Given the description of an element on the screen output the (x, y) to click on. 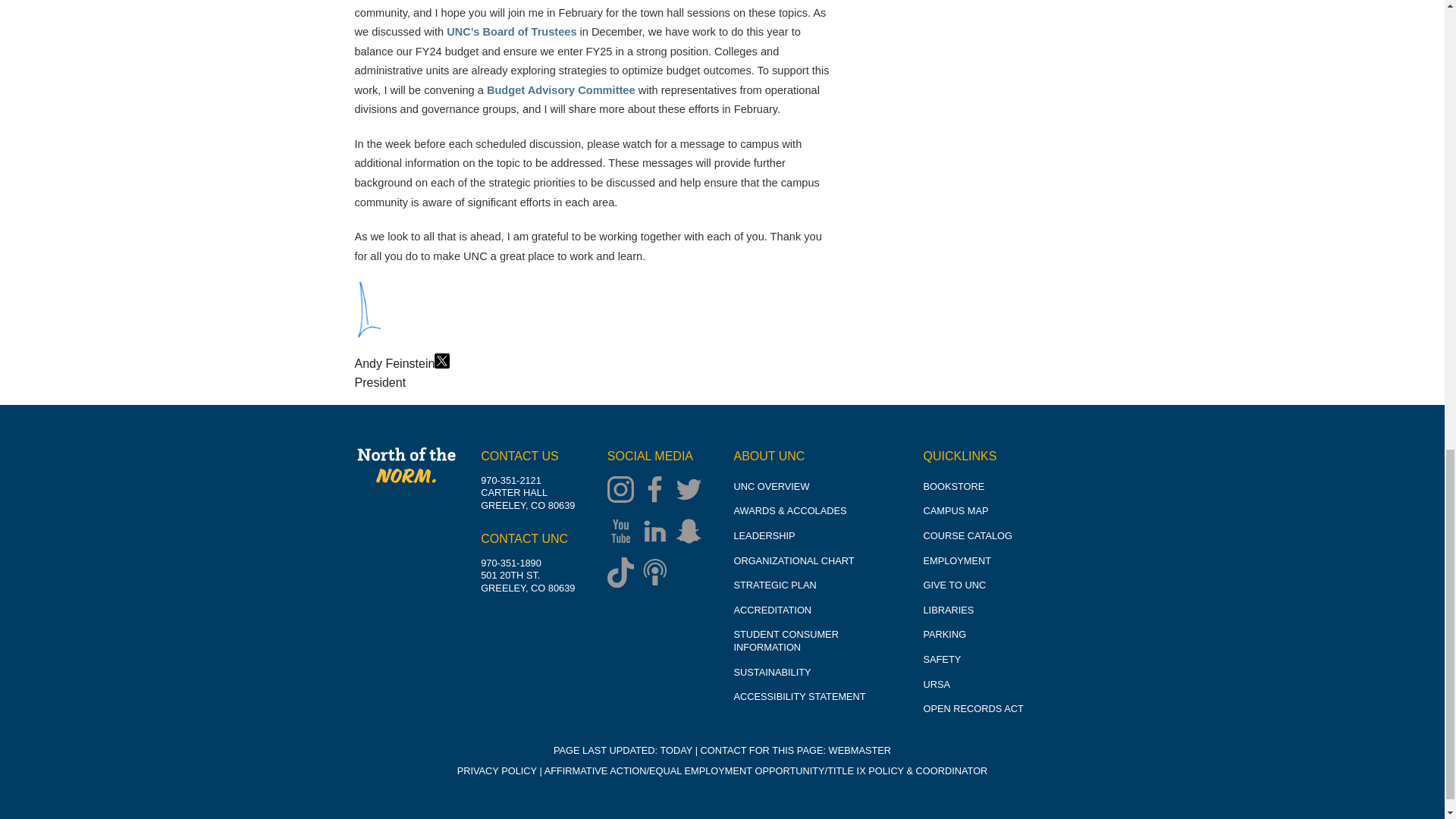
Facebook (658, 491)
TikTok (624, 574)
Bear in Mind Podcast (658, 574)
Snapchat (692, 532)
Instagram (624, 491)
Twitter (692, 491)
LinkedIn (658, 532)
YouTube (624, 532)
